Given the description of an element on the screen output the (x, y) to click on. 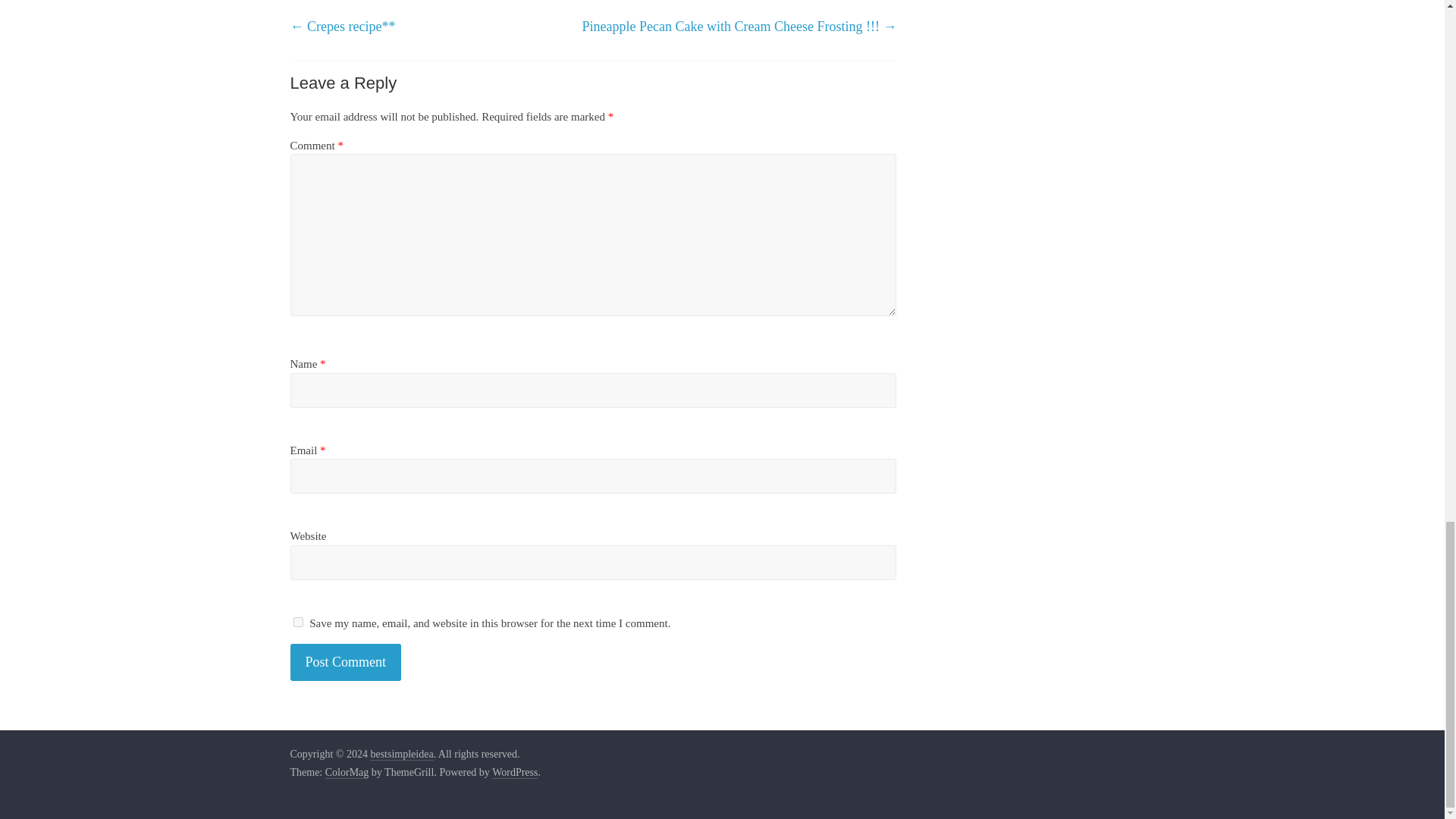
WordPress (514, 772)
WordPress (514, 772)
bestsimpleidea (400, 754)
Post Comment (345, 661)
ColorMag (346, 772)
bestsimpleidea (400, 754)
ColorMag (346, 772)
Post Comment (345, 661)
yes (297, 622)
